Given the description of an element on the screen output the (x, y) to click on. 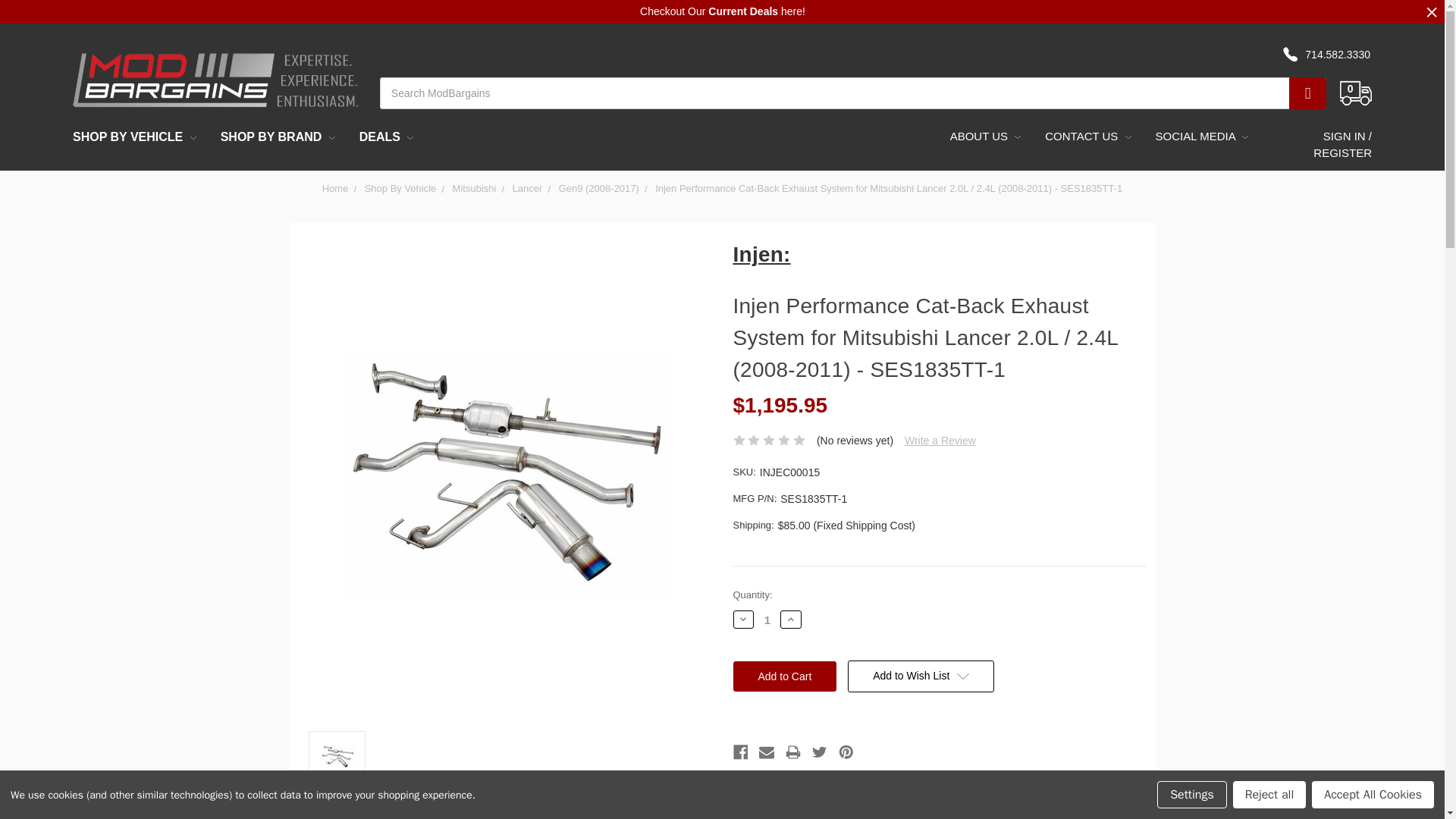
714.582.3330 (1335, 54)
ModBargains (215, 78)
1 (767, 619)
0 (1348, 34)
SHOP BY VEHICLE (134, 136)
Add to Cart (783, 675)
